Given the description of an element on the screen output the (x, y) to click on. 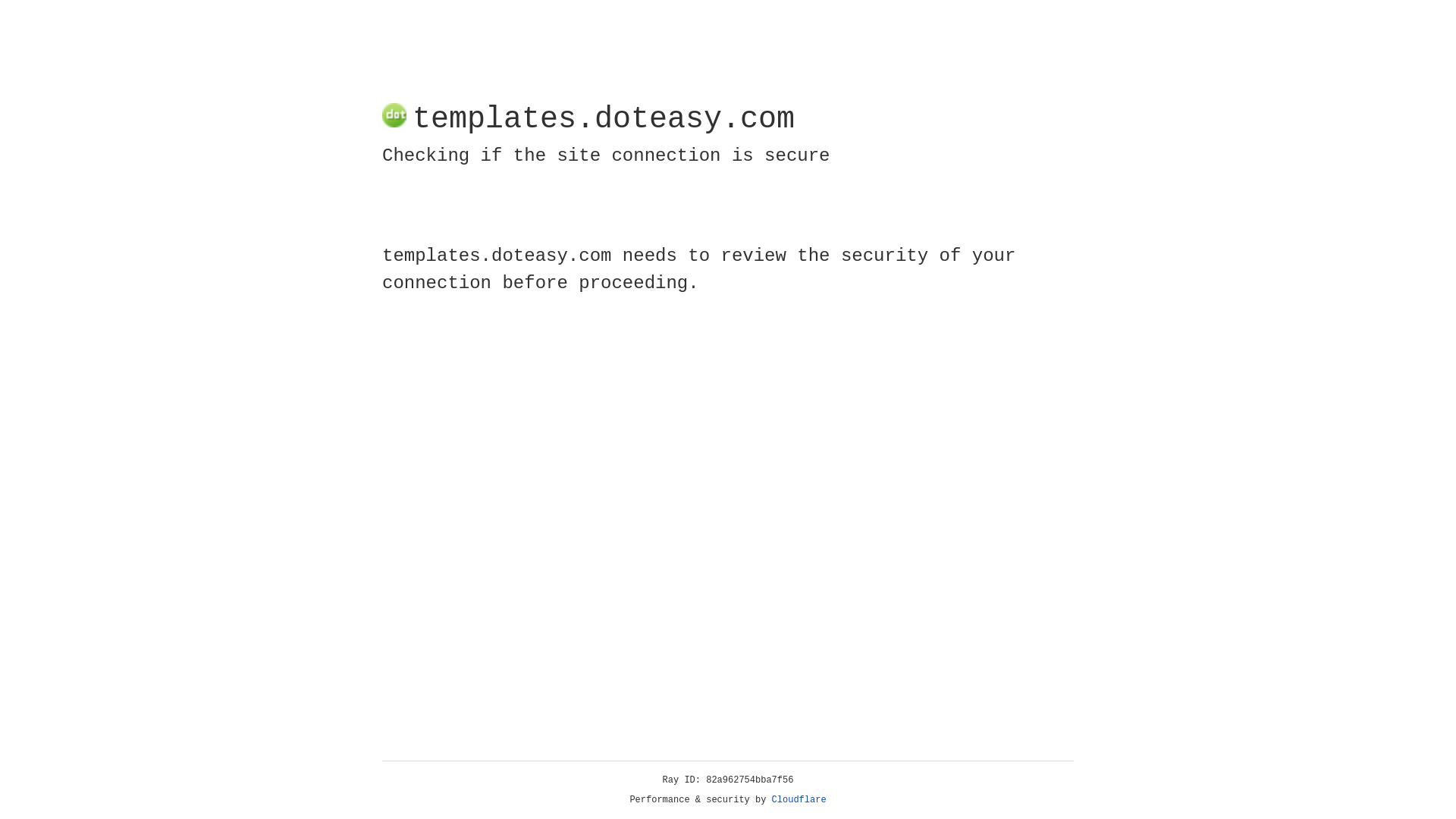
Cloudflare Element type: text (798, 799)
